Given the description of an element on the screen output the (x, y) to click on. 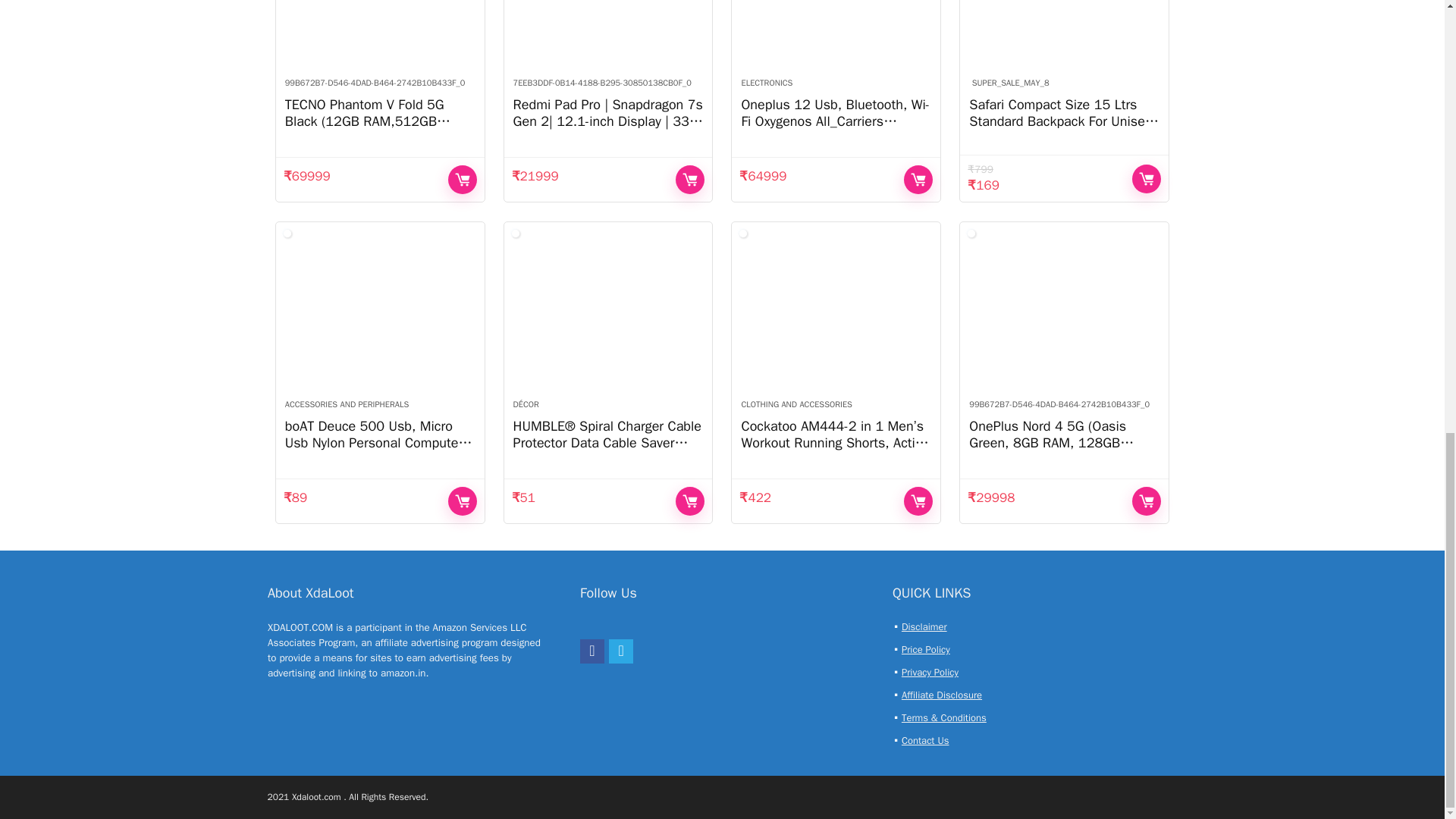
SHOP NOW AT AMAZON.IN (918, 179)
ELECTRONICS (766, 81)
SHOP NOW AT AMAZON.IN (462, 179)
SHOP NOW AT AMAZON.IN (689, 179)
